Given the description of an element on the screen output the (x, y) to click on. 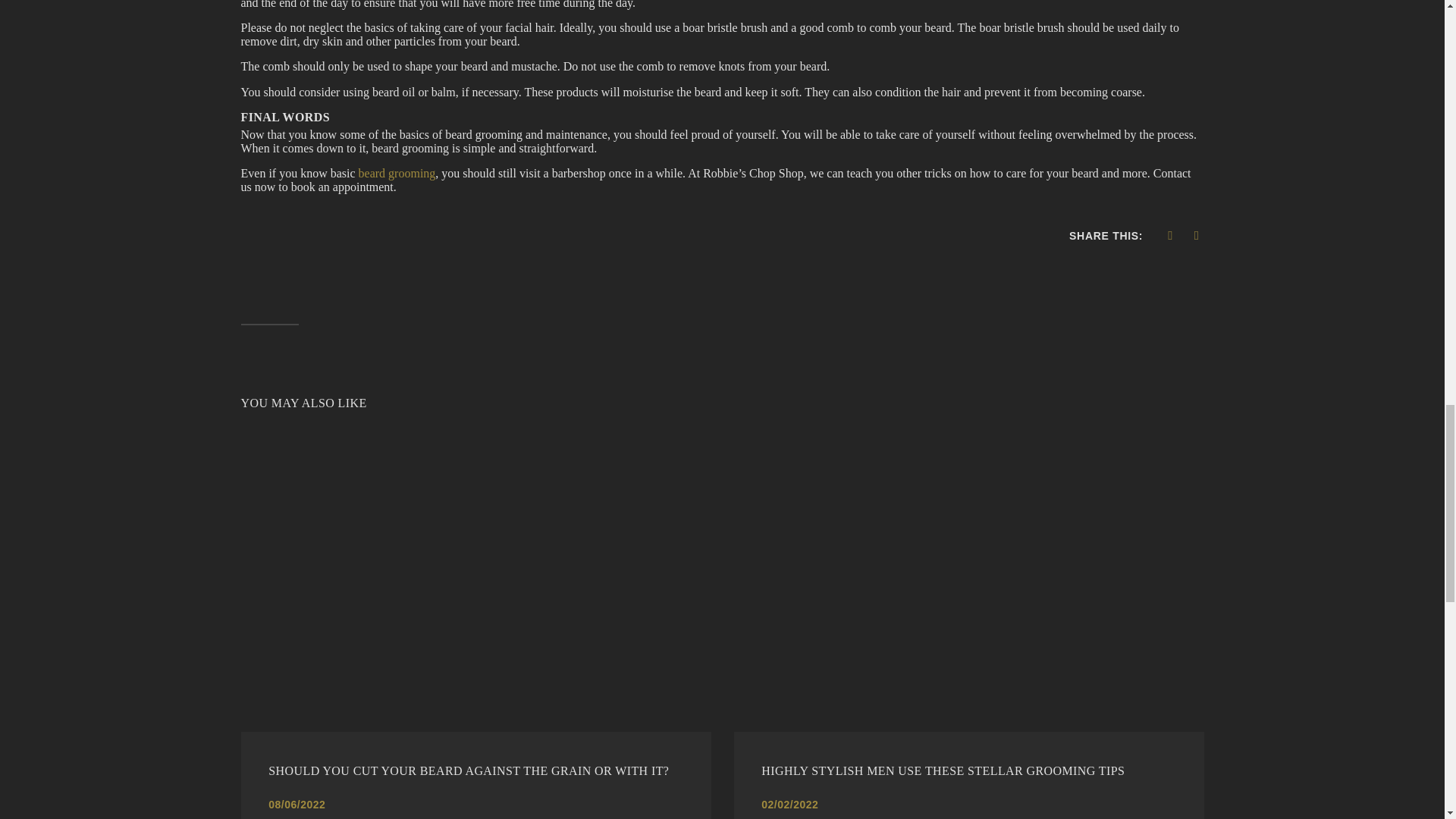
beard grooming (396, 173)
SHOULD YOU CUT YOUR BEARD AGAINST THE GRAIN OR WITH IT? (474, 771)
HIGHLY STYLISH MEN USE THESE STELLAR GROOMING TIPS (967, 771)
